Given the description of an element on the screen output the (x, y) to click on. 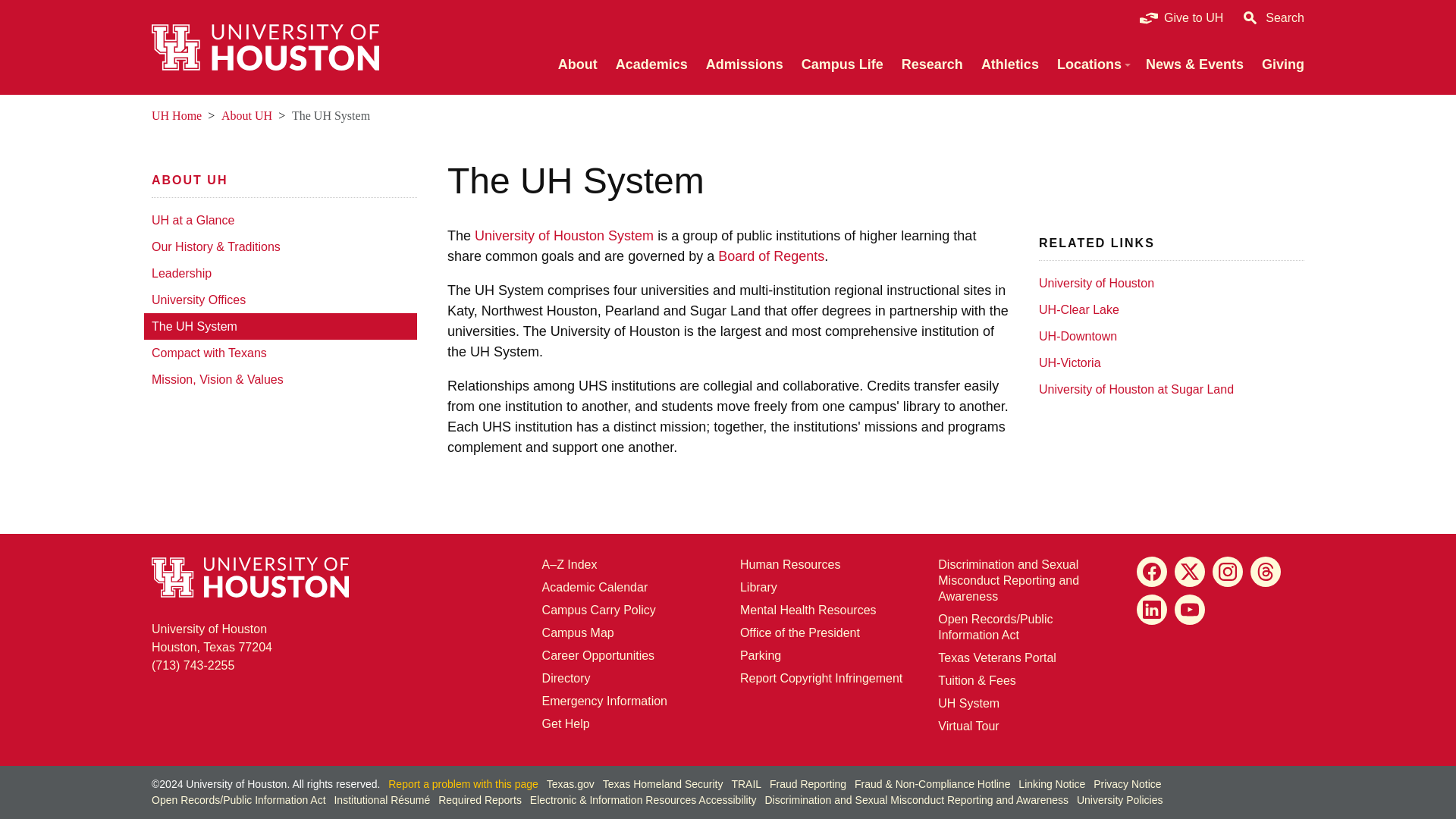
University of Houston (263, 115)
Leadership (280, 273)
University of Houston (479, 351)
University of Houston (322, 115)
University of Houston (1048, 309)
Compact with Texans (280, 352)
UH at a Glance (280, 220)
University of Houston (216, 179)
Locations (1092, 64)
University Offices (280, 299)
University of Houston at Sugar Land (1167, 388)
Compact with Texans (280, 352)
University of Houston (1167, 283)
About UH (189, 179)
